Given the description of an element on the screen output the (x, y) to click on. 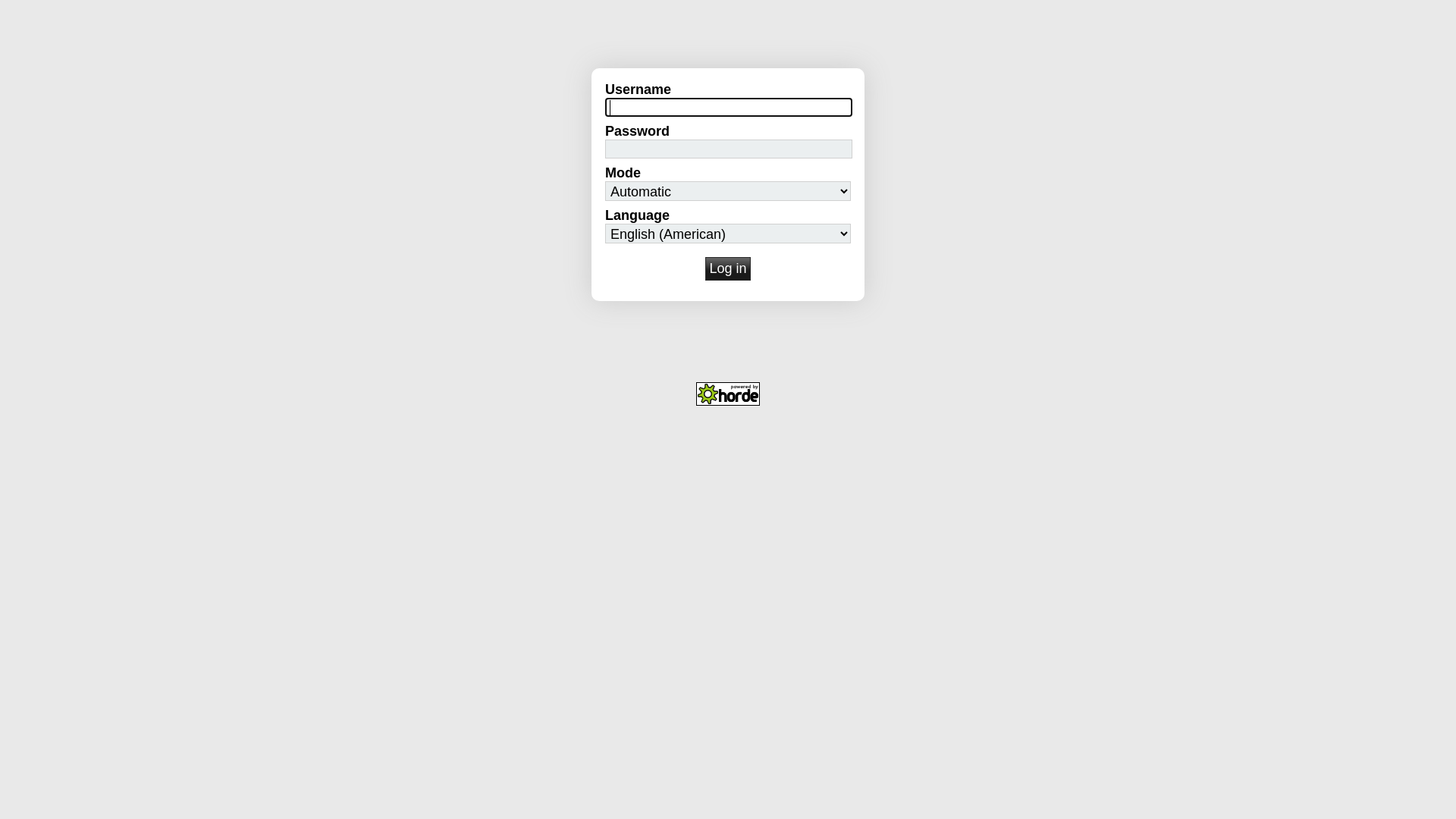
Log in Element type: text (727, 268)
